Given the description of an element on the screen output the (x, y) to click on. 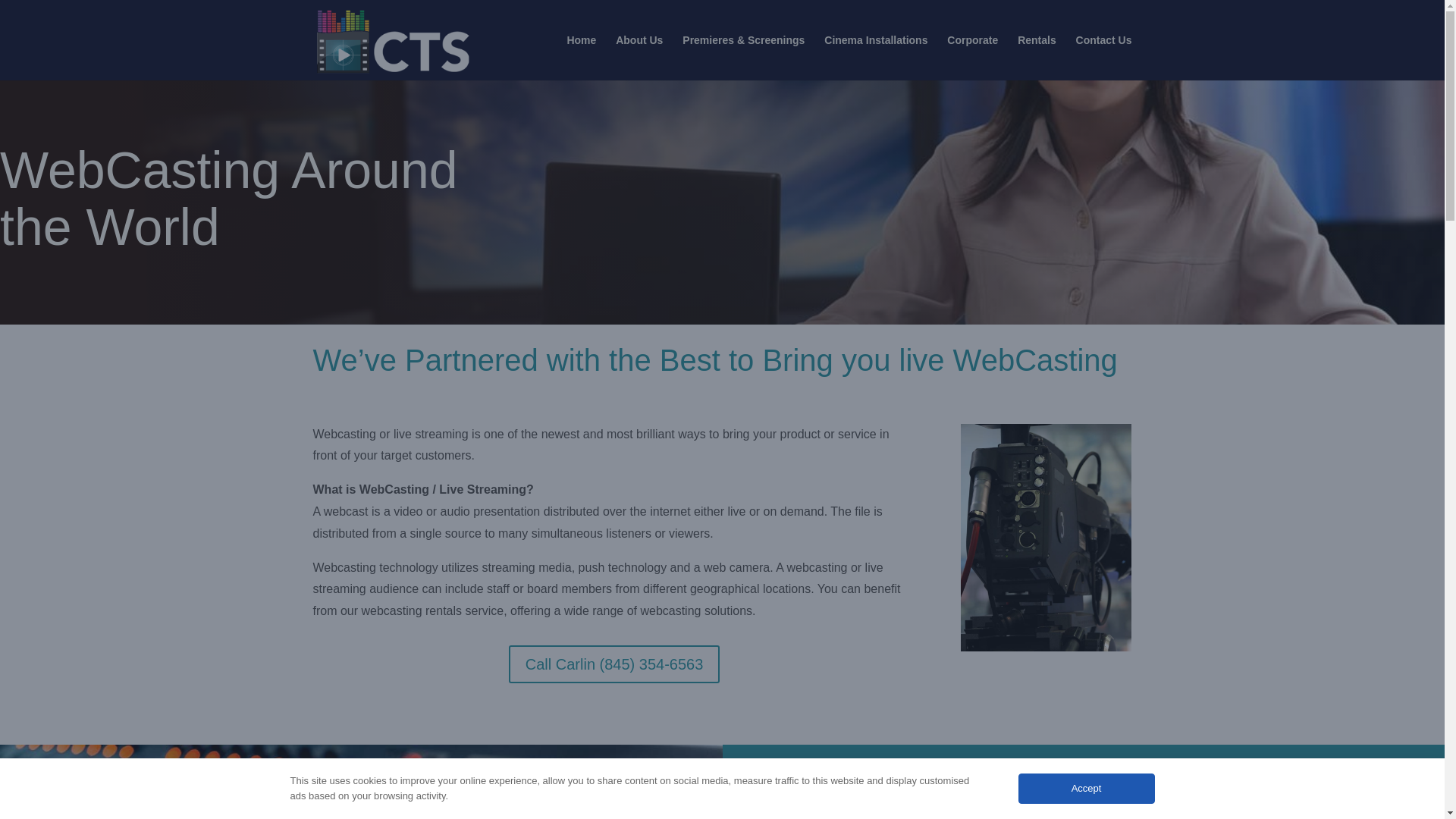
Cinema Installations (875, 57)
About Us (638, 57)
Corporate (972, 57)
Contact Us (1103, 57)
